Given the description of an element on the screen output the (x, y) to click on. 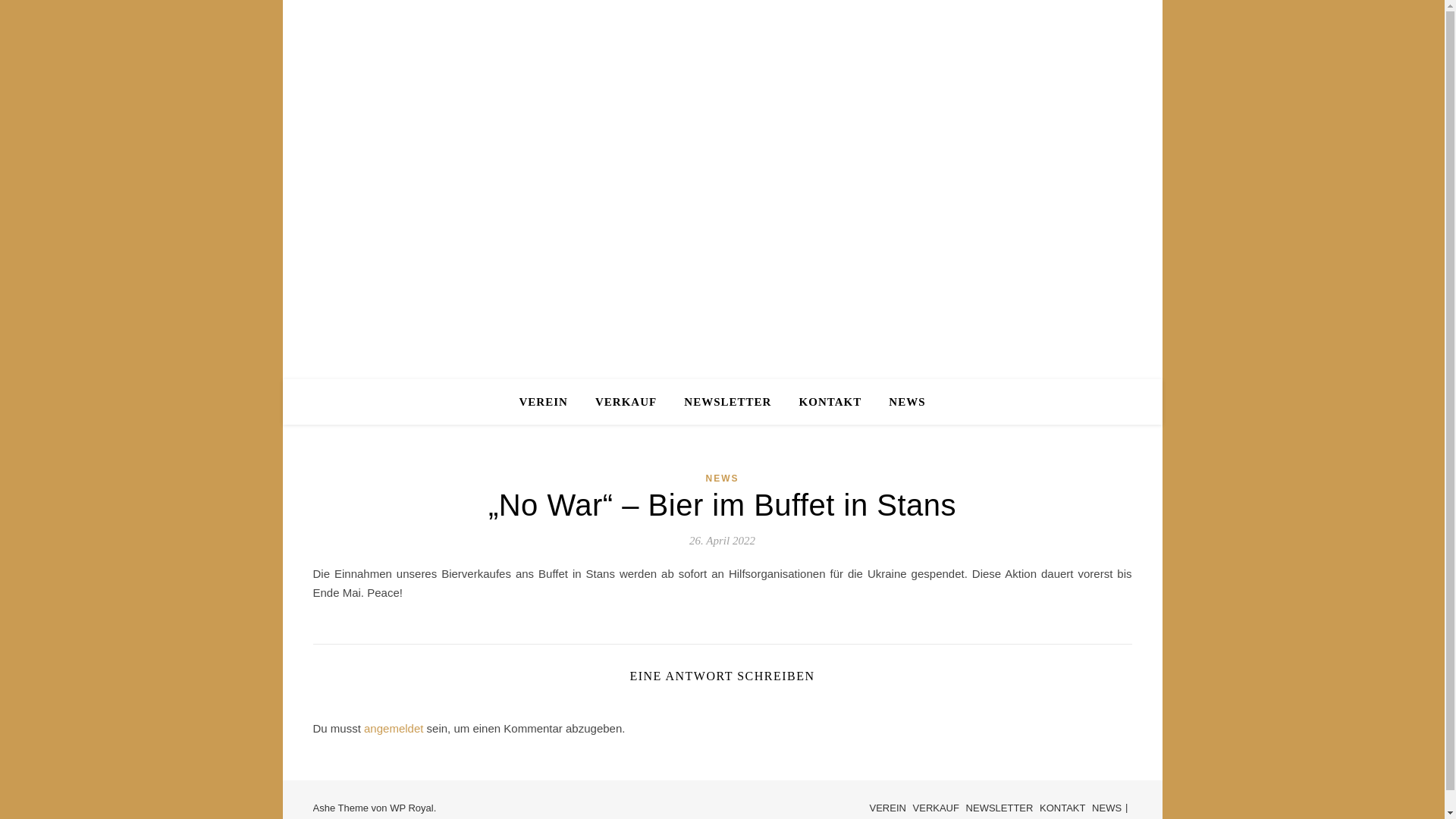
NEWSLETTER Element type: text (727, 401)
KONTAKT Element type: text (1062, 807)
NEWS Element type: text (900, 401)
NEWS Element type: text (1106, 807)
NEWSLETTER Element type: text (999, 807)
VERKAUF Element type: text (936, 807)
VEREIN Element type: text (887, 807)
WP Royal Element type: text (411, 807)
NEWS Element type: text (721, 478)
KONTAKT Element type: text (830, 401)
VEREIN Element type: text (548, 401)
VERKAUF Element type: text (625, 401)
angemeldet Element type: text (393, 727)
